Given the description of an element on the screen output the (x, y) to click on. 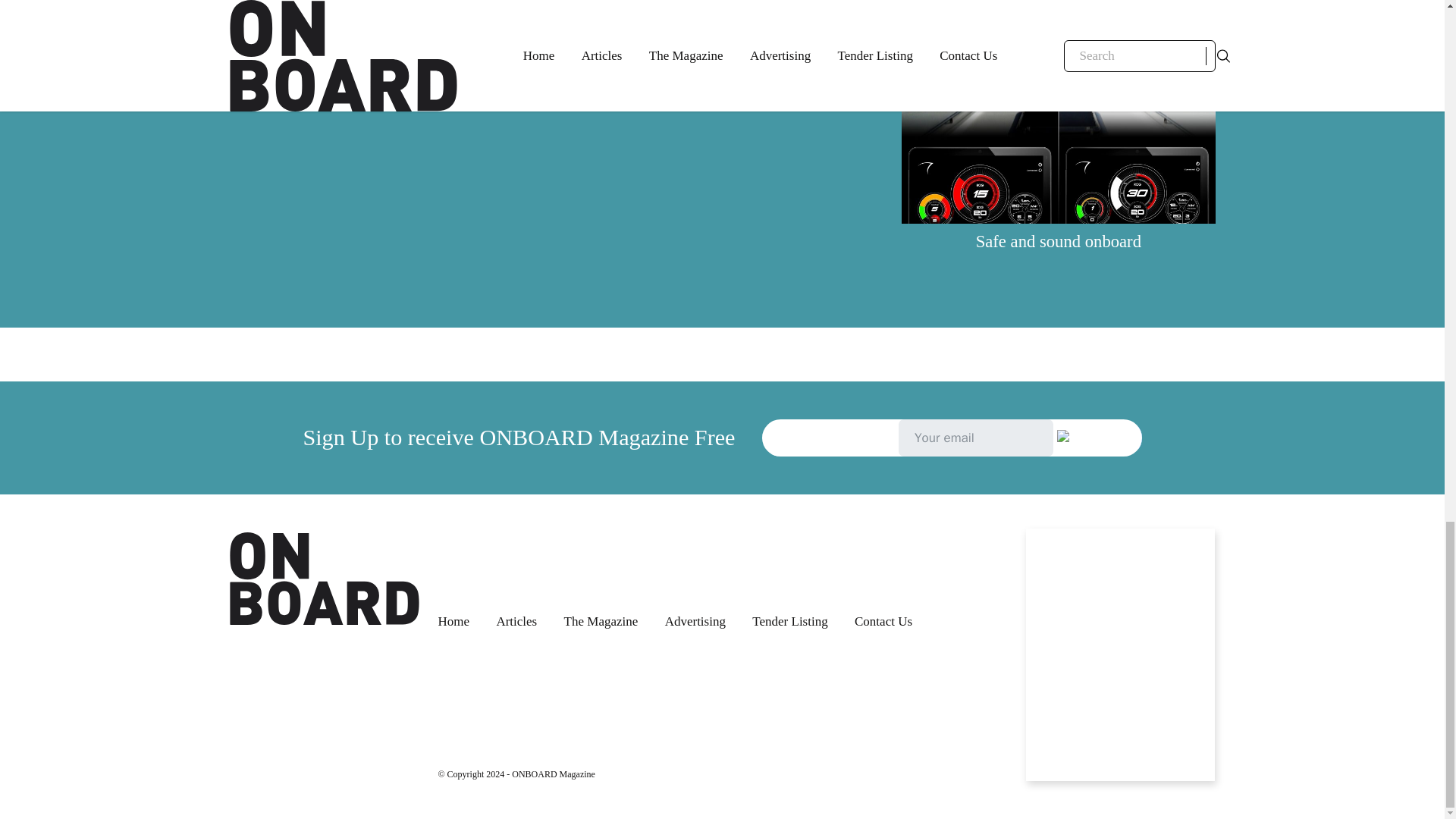
Tender Listing (789, 621)
Articles (516, 621)
Home (454, 621)
Contact Us (883, 621)
Advertising (695, 621)
The Magazine (601, 621)
Safe and sound onboard (1058, 240)
Porto Montenegro Residences (385, 7)
